Given the description of an element on the screen output the (x, y) to click on. 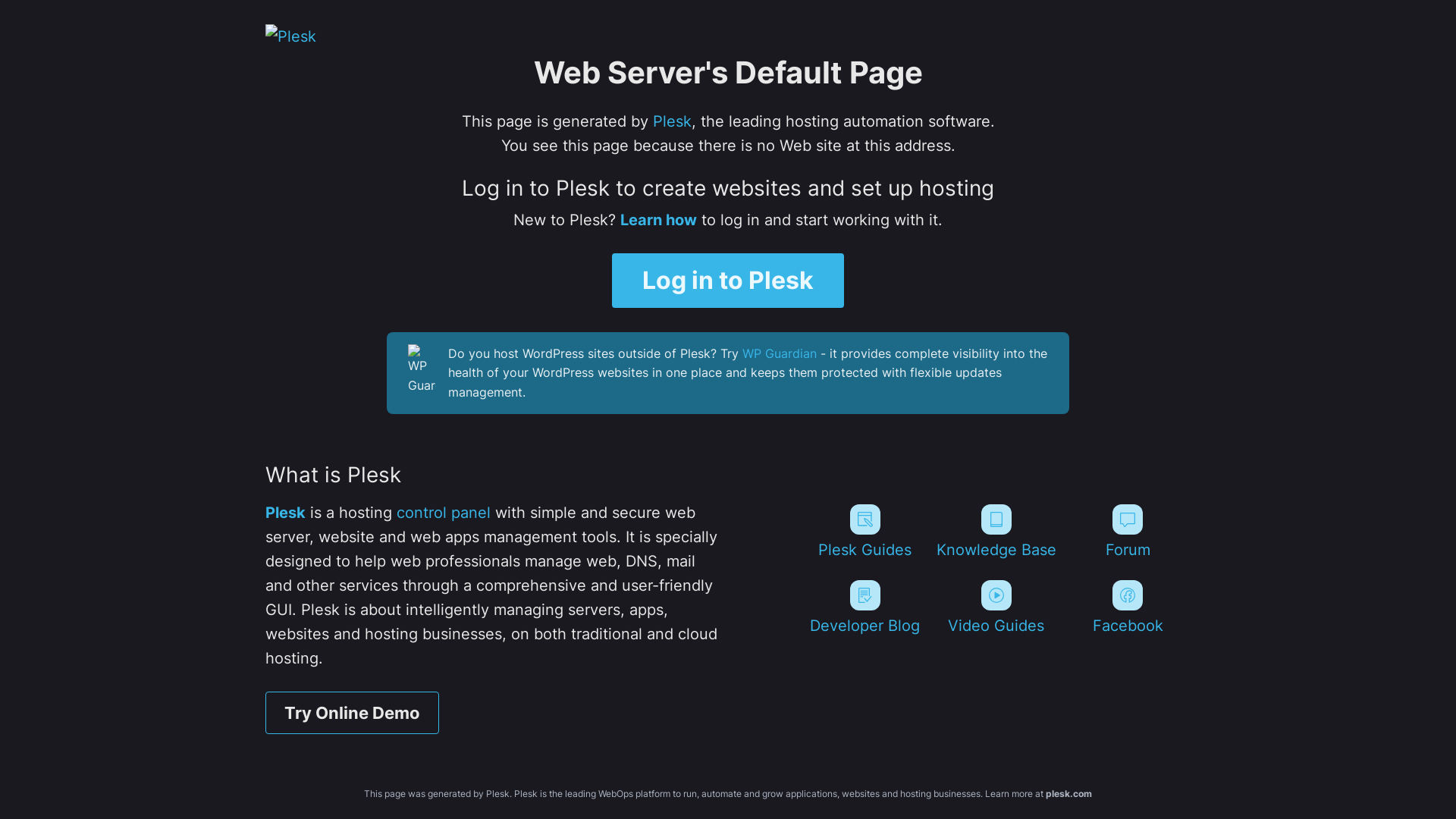
Plesk Element type: text (285, 512)
Forum Element type: text (1127, 531)
Knowledge Base Element type: text (995, 531)
WP Guardian Element type: text (779, 352)
Learn how Element type: text (658, 219)
Plesk Element type: text (671, 121)
Try Online Demo Element type: text (352, 712)
control panel Element type: text (443, 512)
Plesk Guides Element type: text (864, 531)
Developer Blog Element type: text (864, 607)
Facebook Element type: text (1127, 607)
Log in to Plesk Element type: text (727, 280)
plesk.com Element type: text (1068, 793)
Video Guides Element type: text (995, 607)
